Given the description of an element on the screen output the (x, y) to click on. 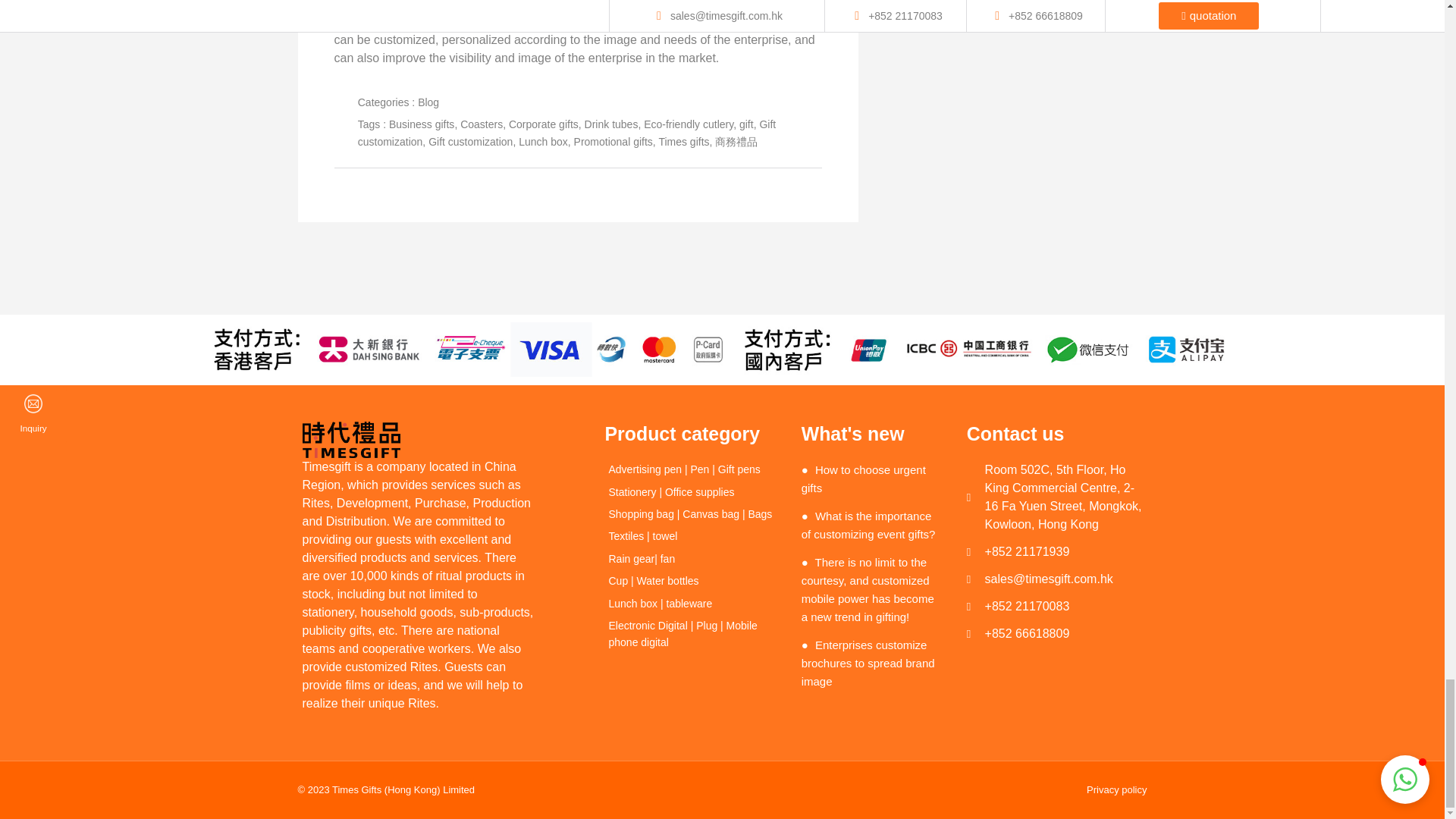
What's new (872, 433)
Product category (691, 433)
Privacy policy (1024, 790)
Contact us (1054, 433)
